Given the description of an element on the screen output the (x, y) to click on. 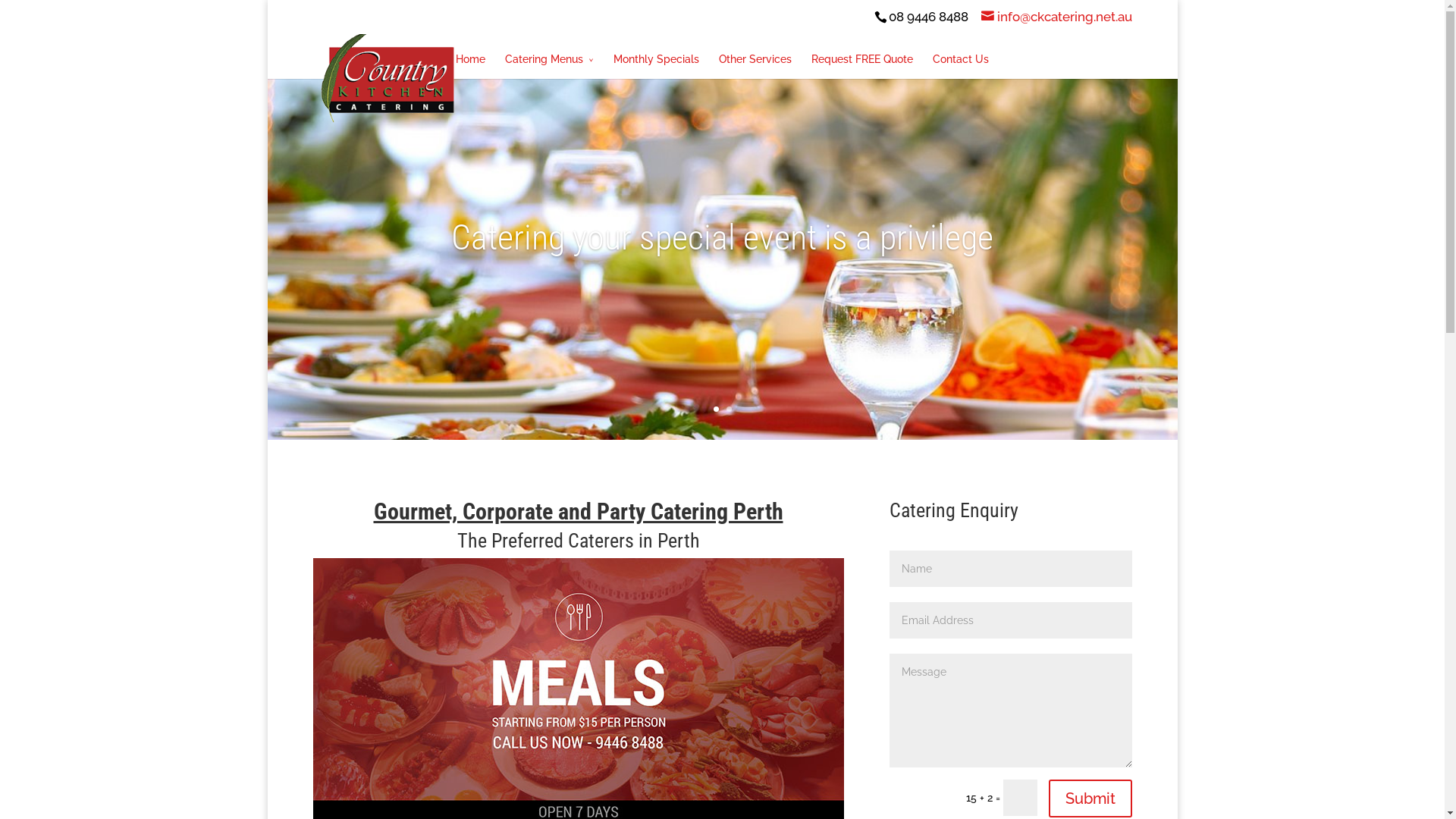
info@ckcatering.net.au Element type: text (1056, 16)
Submit Element type: text (1089, 798)
Contact Us Element type: text (960, 64)
Monthly Specials Element type: text (656, 64)
Home Element type: text (470, 64)
2 Element type: text (728, 408)
Request FREE Quote Element type: text (862, 64)
Catering Menus Element type: text (549, 64)
1 Element type: text (715, 408)
Other Services Element type: text (754, 64)
